Given the description of an element on the screen output the (x, y) to click on. 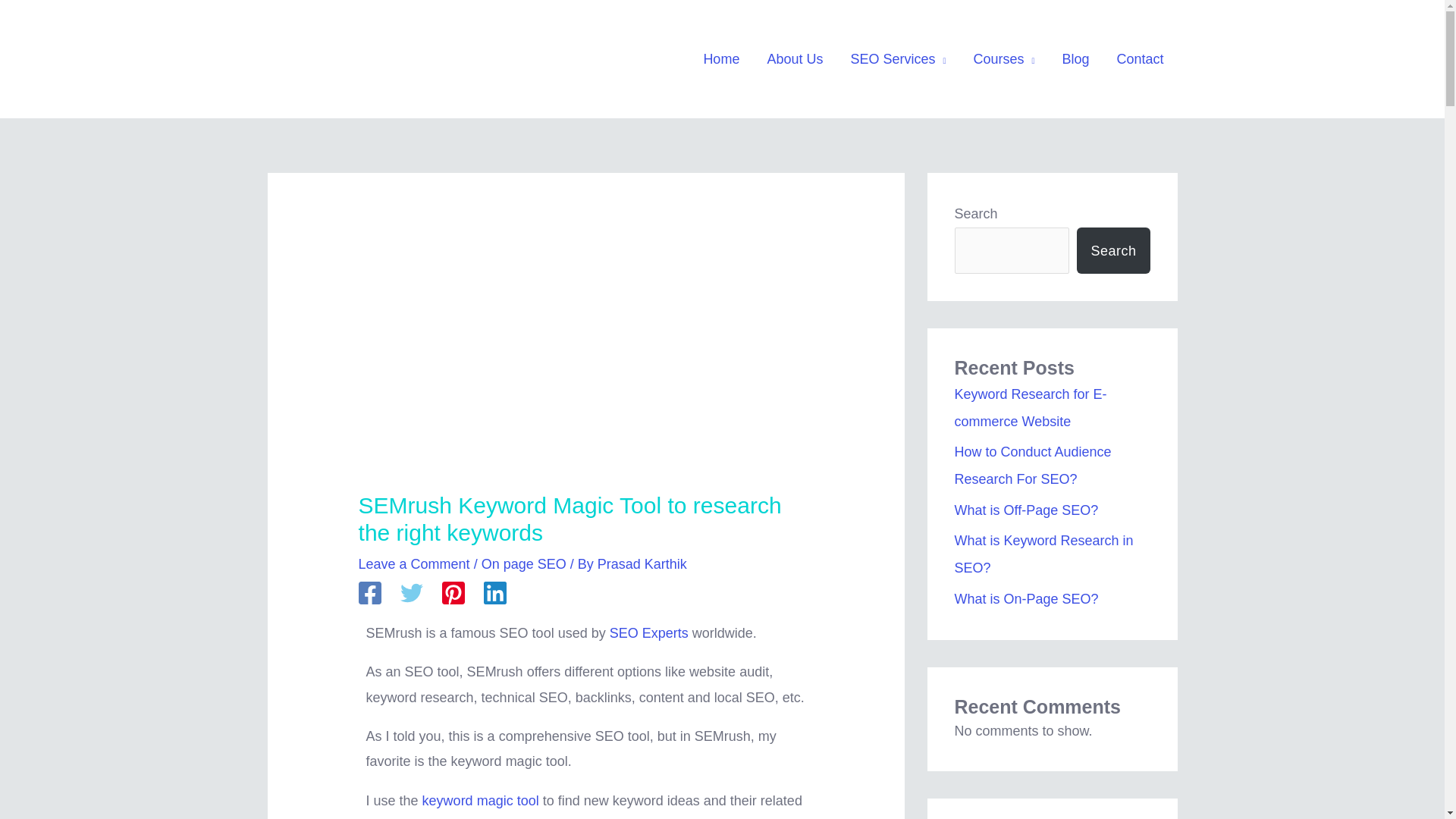
On page SEO (523, 563)
Prasad Karthik (641, 563)
Leave a Comment (414, 563)
Home (720, 58)
View all posts by Prasad Karthik (641, 563)
Courses (1003, 58)
SEO Services (897, 58)
Blog (1075, 58)
About Us (793, 58)
Contact (1139, 58)
